Given the description of an element on the screen output the (x, y) to click on. 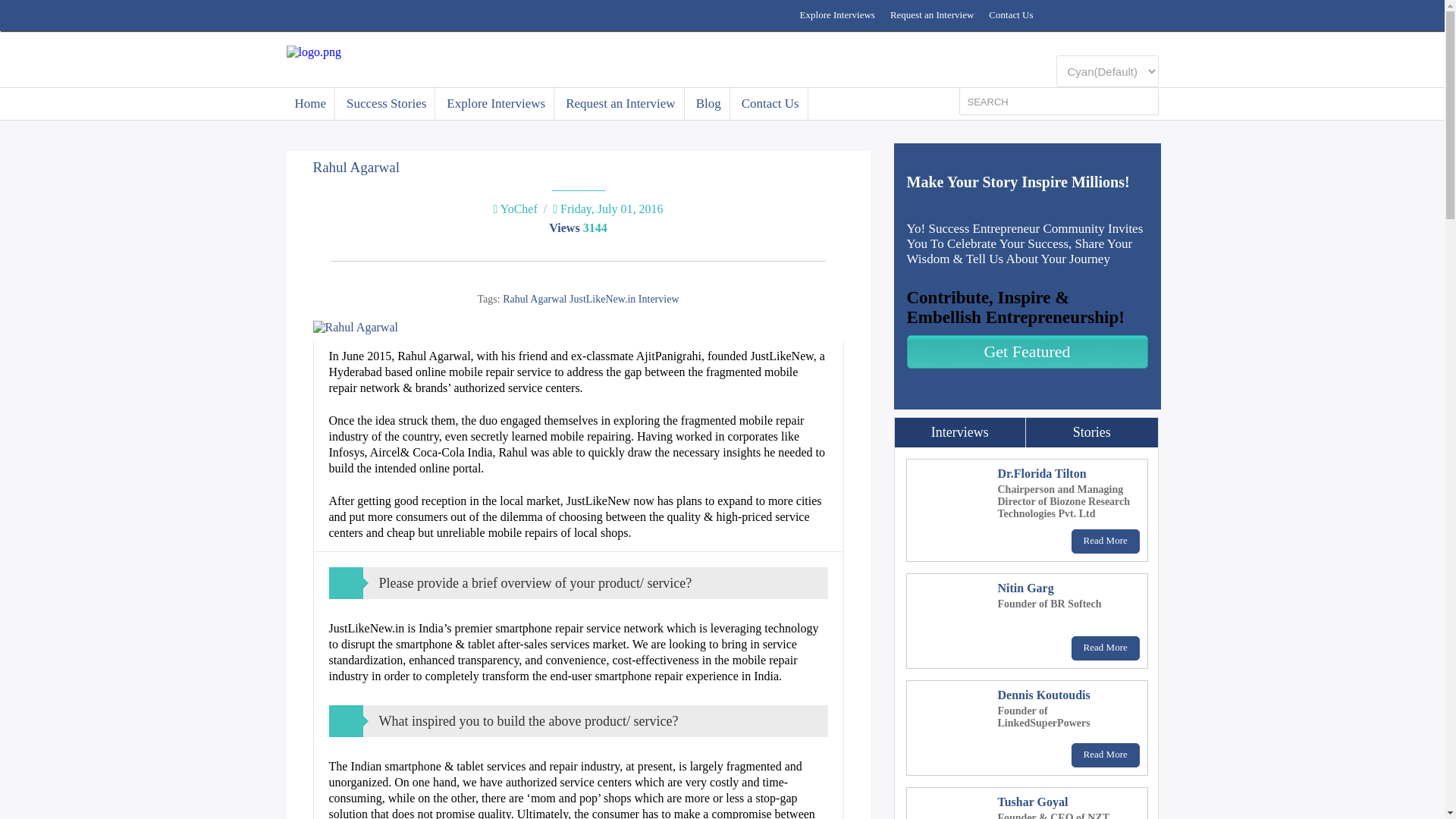
Request an Interview (931, 15)
Interviews (960, 432)
SEARCH (1048, 101)
Explore Interviews (837, 15)
Read More (1105, 541)
Nitin Garg (1025, 587)
Recent (1091, 432)
Success Stories (386, 103)
Rahul Agarwal JustLikeNew.in Interview (590, 298)
YoChef (518, 208)
